Given the description of an element on the screen output the (x, y) to click on. 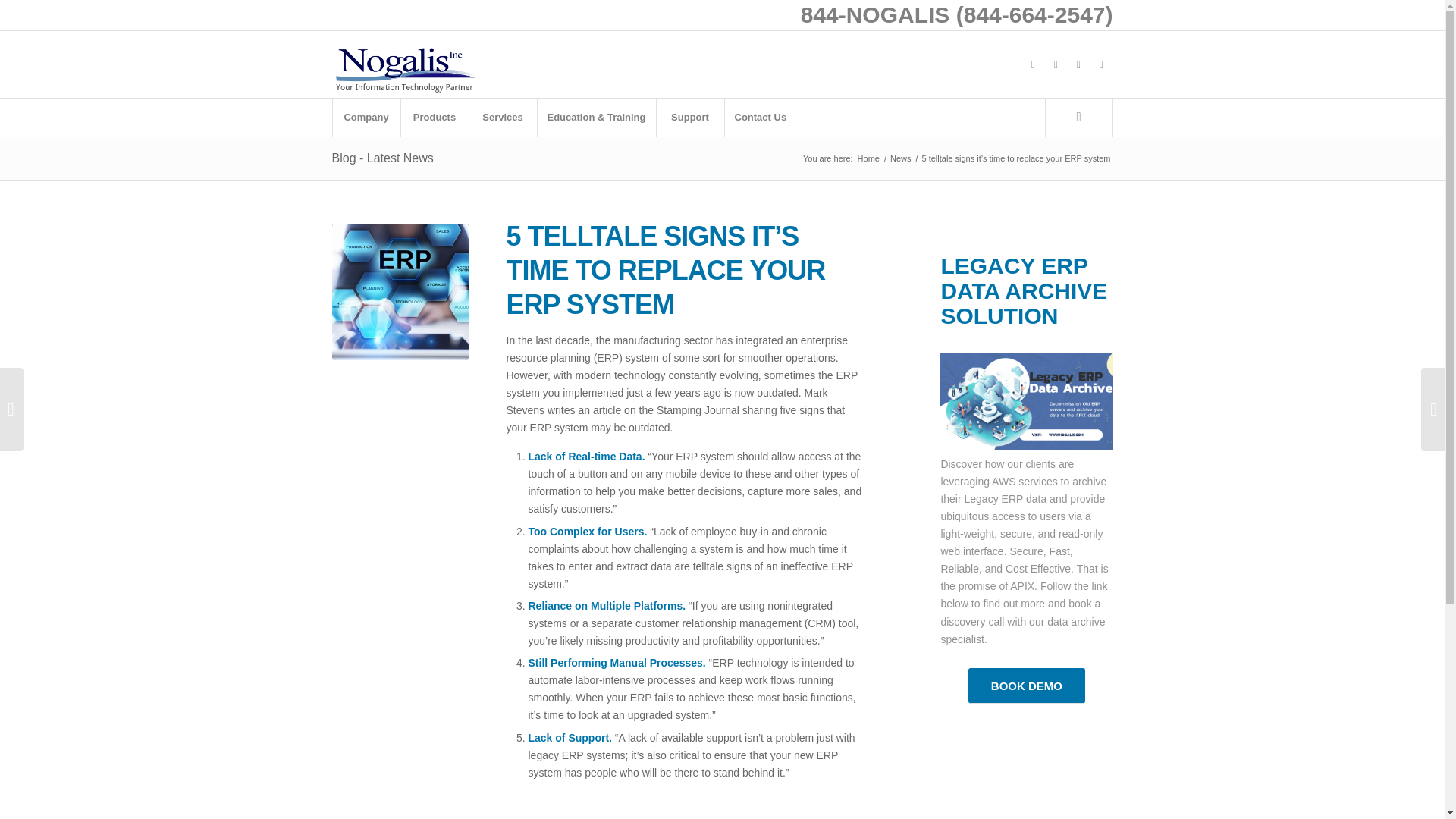
Support (689, 117)
X (1056, 64)
Home (869, 158)
Mail (1101, 64)
LEGACY ERP DATA ARCHIVE SOLUTION (1023, 290)
LinkedIn (1078, 64)
erp-it-cloud (399, 291)
Blog - Latest News (382, 157)
News (901, 158)
Services (502, 117)
Permanent Link: Blog - Latest News (382, 157)
Contact Us (759, 117)
Nogalis, Inc. (869, 158)
BOOK DEMO (1026, 685)
logo with slogan good (404, 64)
